Given the description of an element on the screen output the (x, y) to click on. 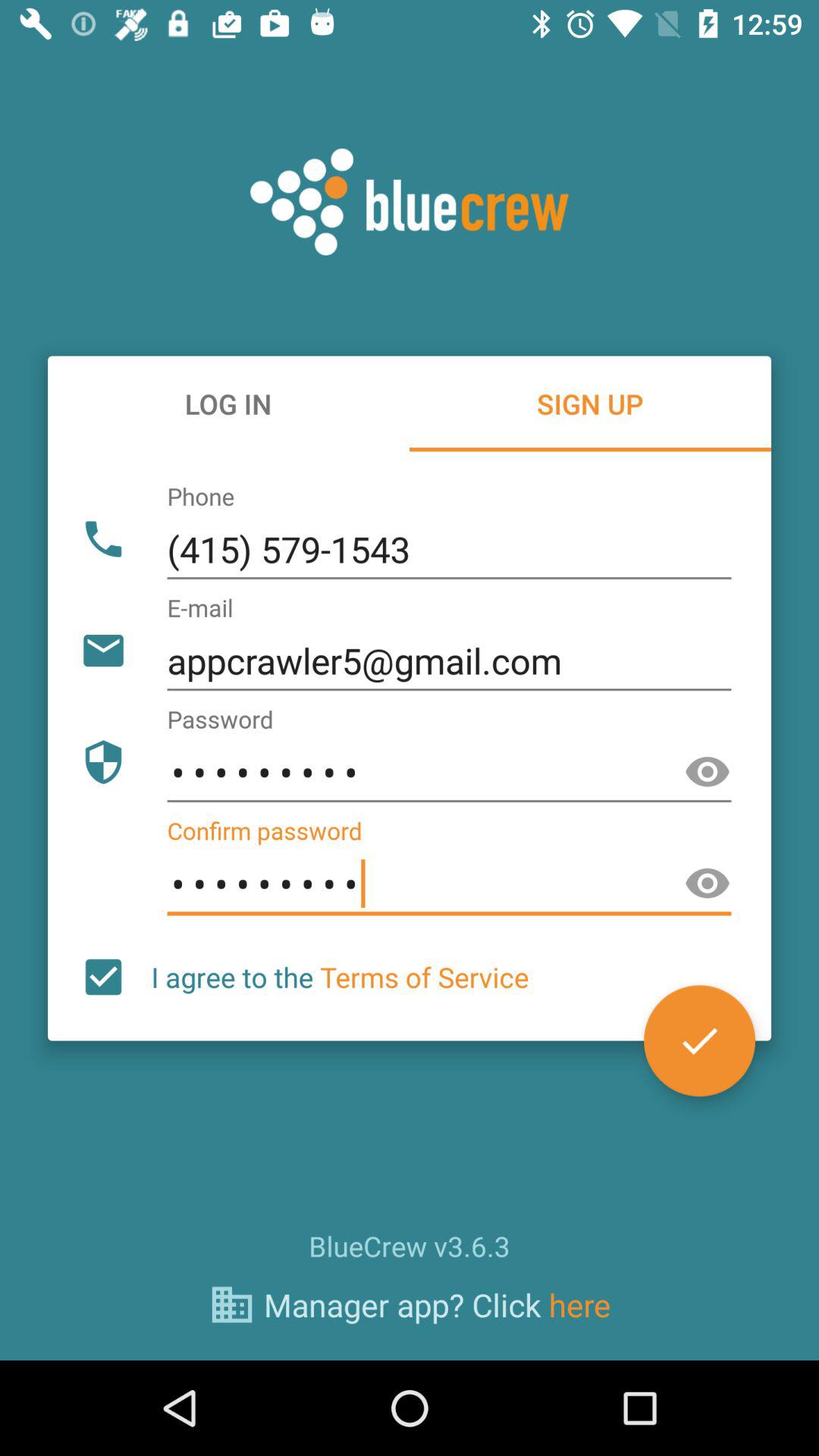
open the icon to the left of i agree to item (103, 976)
